Given the description of an element on the screen output the (x, y) to click on. 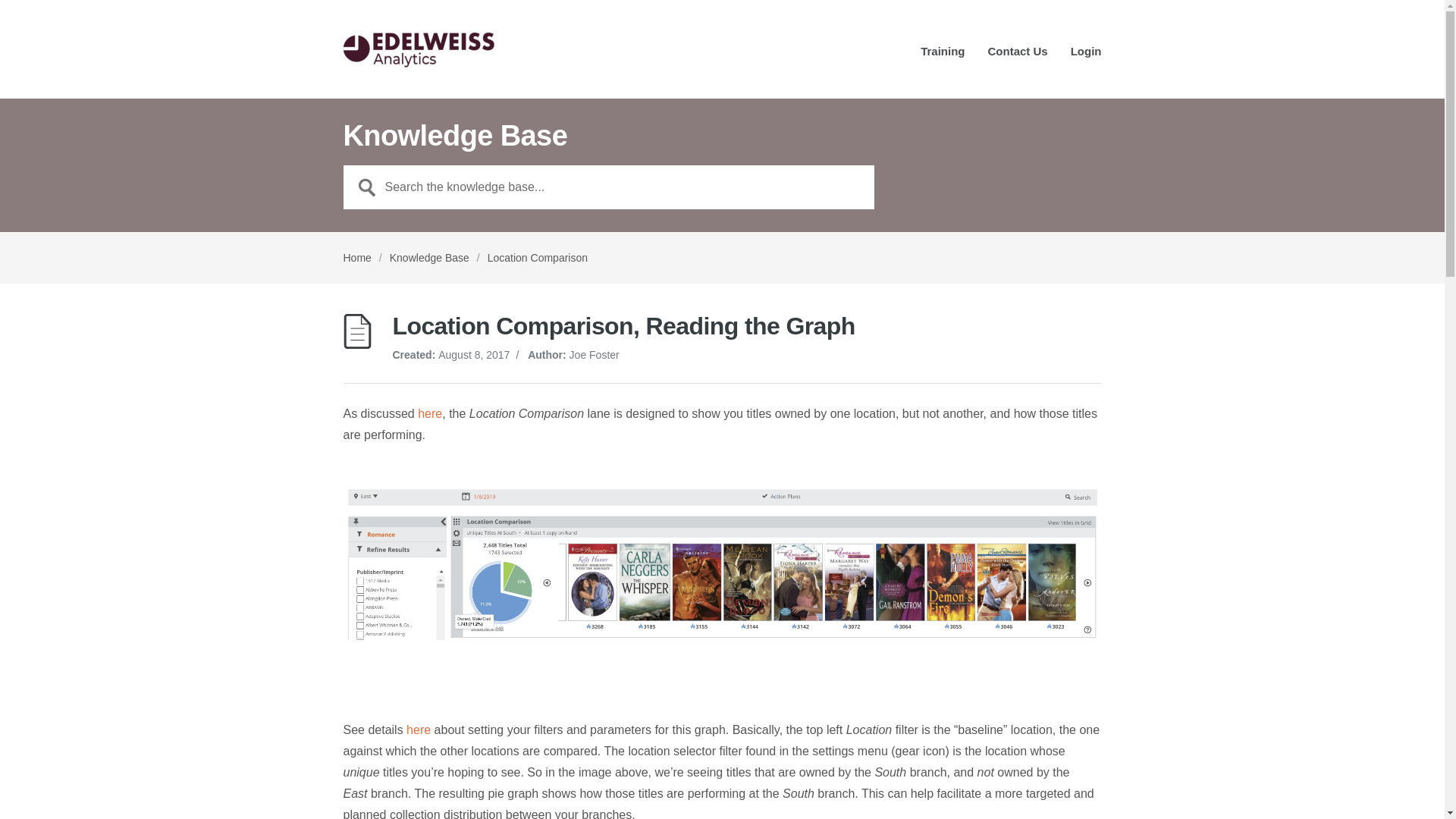
Help widget launcher (75, 781)
Login (1086, 56)
here (418, 729)
Training (941, 56)
Knowledge Base (429, 257)
here (429, 413)
Contact Us (1016, 56)
Home (356, 257)
Location Comparison (537, 257)
Search the knowledge base... (607, 187)
